Given the description of an element on the screen output the (x, y) to click on. 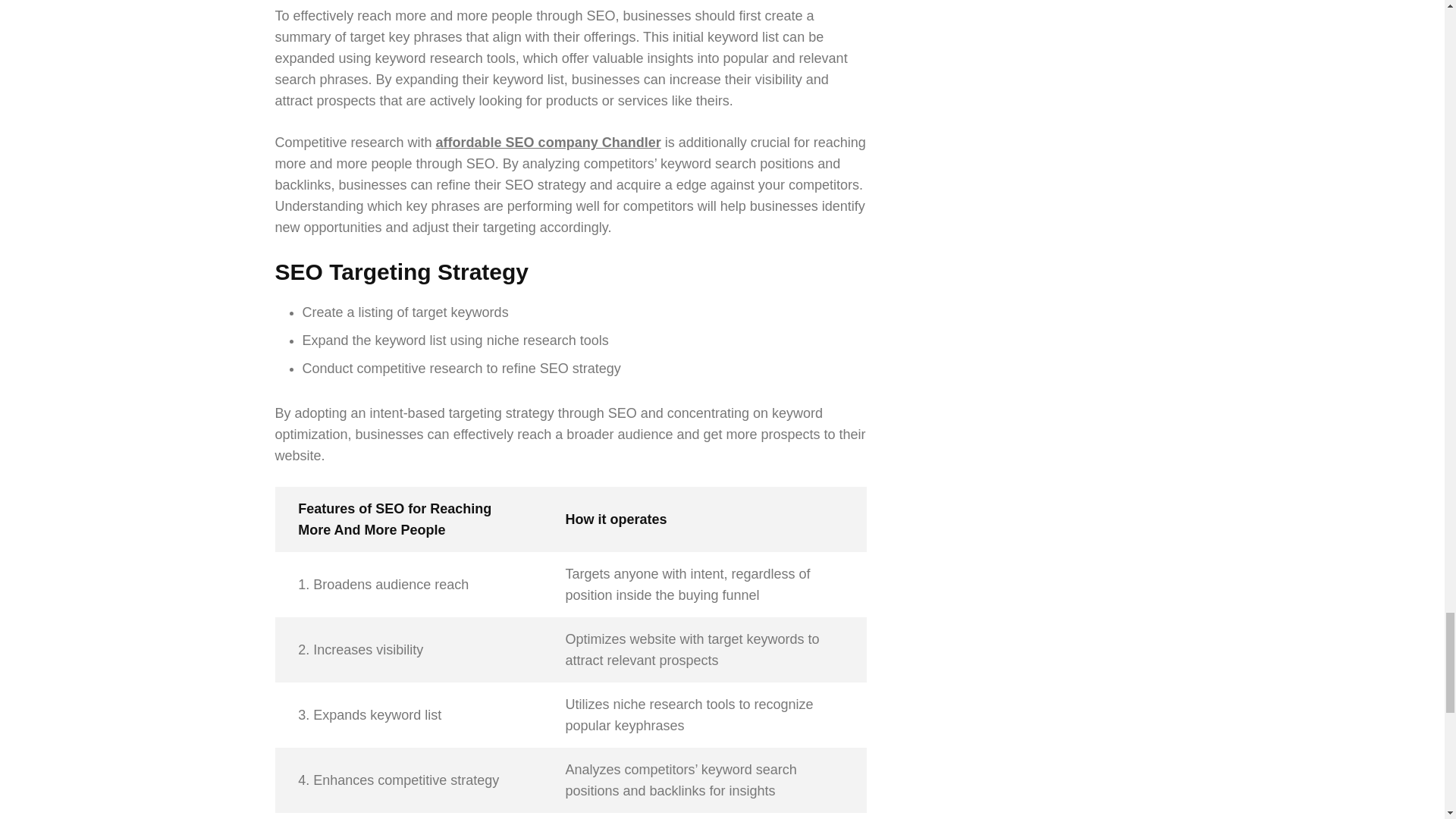
affordable SEO company Chandler (548, 142)
